Given the description of an element on the screen output the (x, y) to click on. 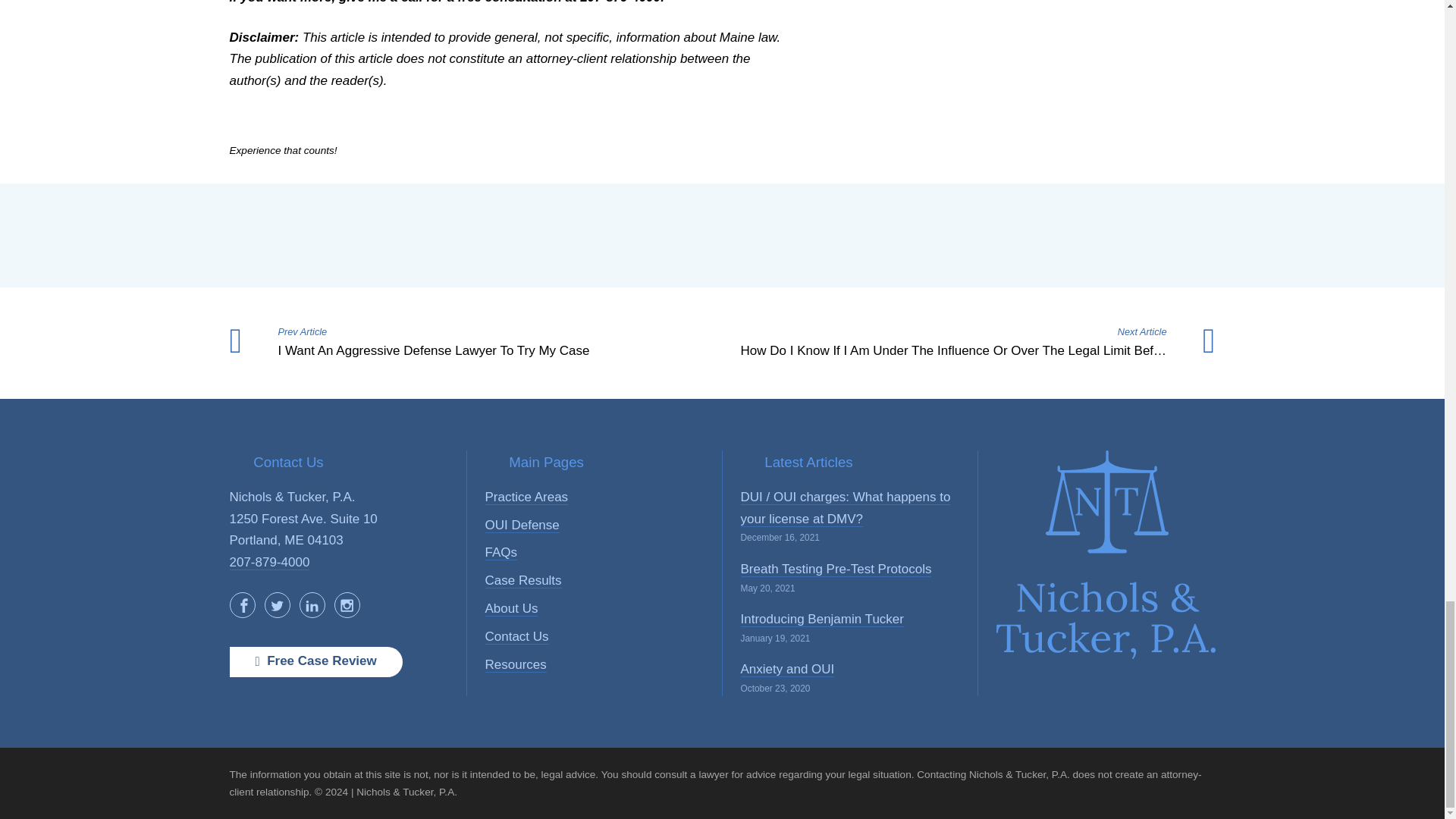
Facebook (241, 605)
Linked In (311, 605)
Instagram (346, 605)
Twitter (276, 605)
